Given the description of an element on the screen output the (x, y) to click on. 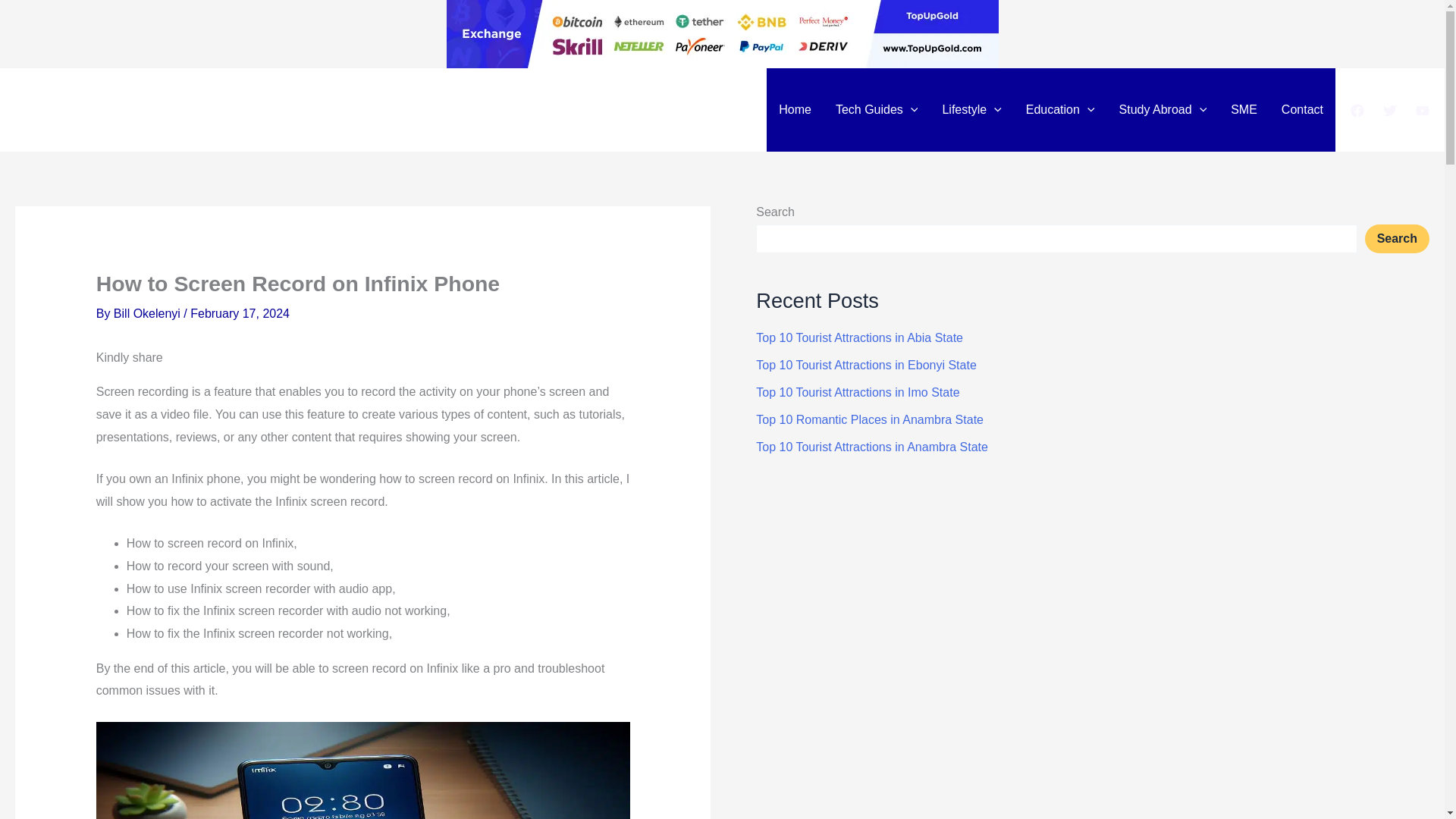
Home (795, 109)
Lifestyle (971, 109)
SME (1243, 109)
Contact (1302, 109)
View all posts by Bill Okelenyi (148, 313)
Tech Guides (877, 109)
Education (1059, 109)
How to Screen Record on Infinix Phone 1 (363, 770)
Study Abroad (1163, 109)
